Given the description of an element on the screen output the (x, y) to click on. 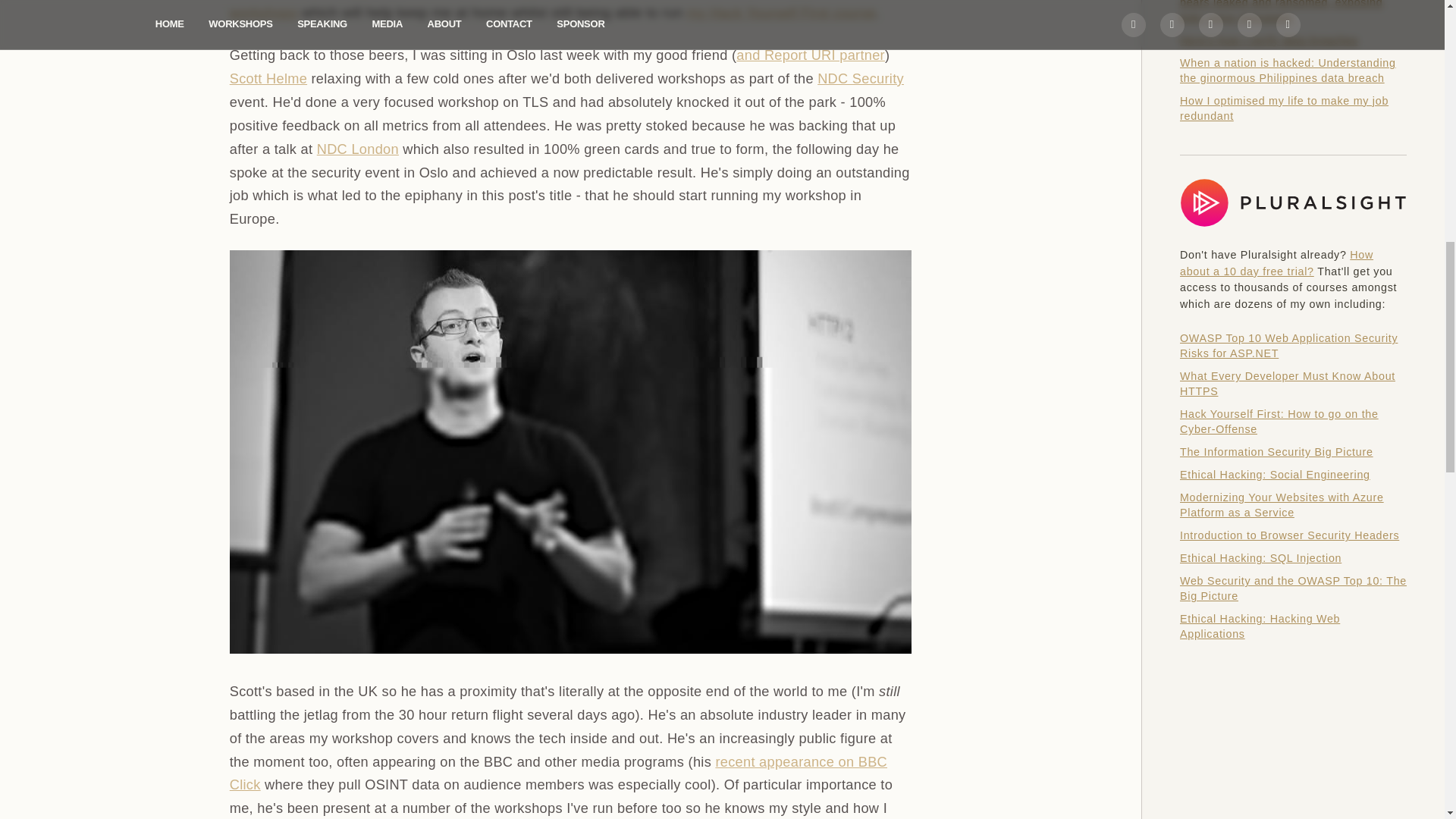
remote workshops (549, 10)
my Hack Yourself First course (781, 12)
and Report URI partner (810, 55)
recent appearance on BBC Click (558, 773)
NDC Security (860, 78)
Scott Helme (268, 78)
NDC London (357, 149)
